Given the description of an element on the screen output the (x, y) to click on. 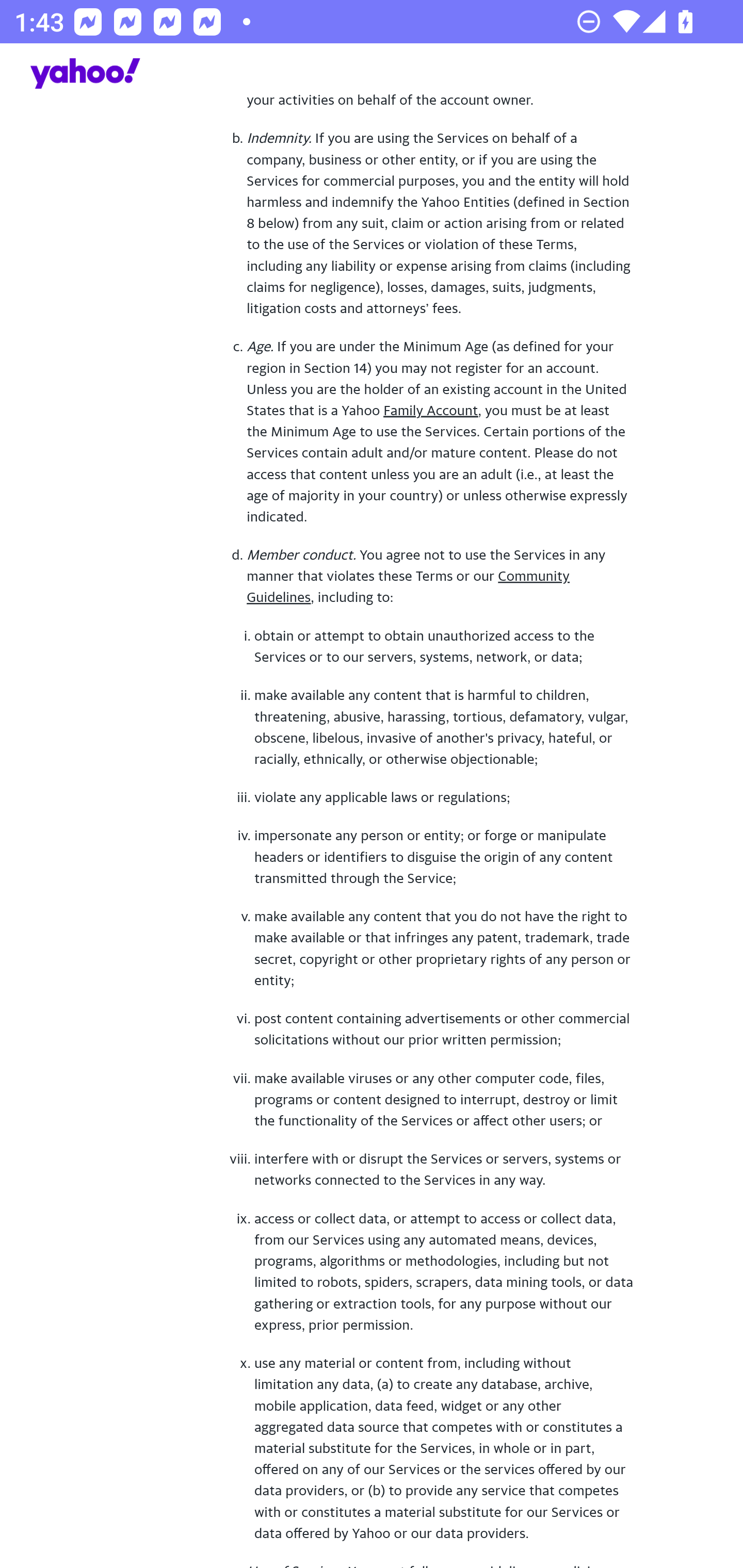
Family Account (430, 409)
Community Guidelines (407, 586)
